Given the description of an element on the screen output the (x, y) to click on. 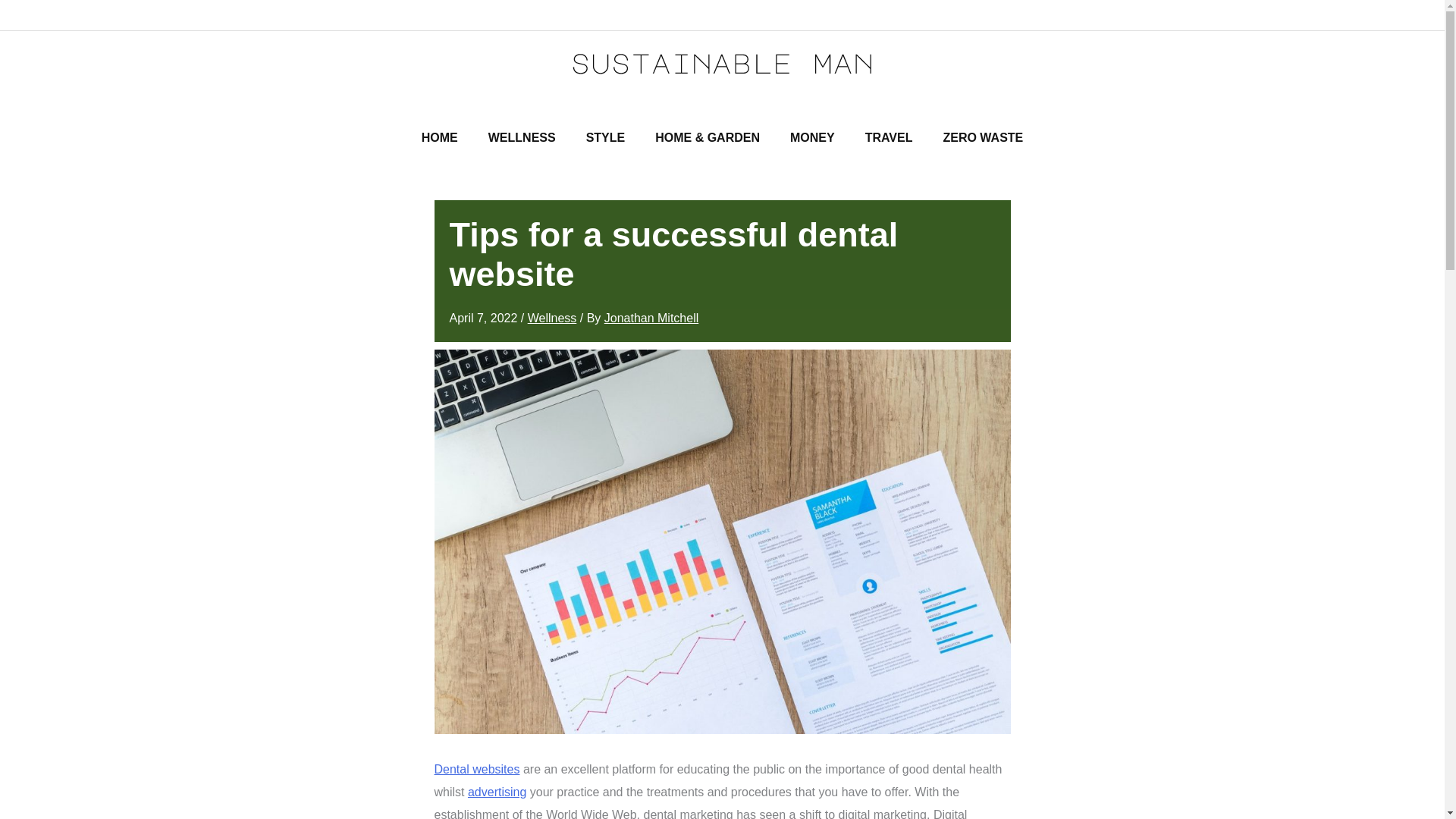
WELLNESS (521, 137)
ABOUT (41, 15)
TRAVEL (889, 137)
HOME (439, 137)
Dental websites (476, 768)
advertising (496, 791)
Jonathan Mitchell (651, 318)
ZERO WASTE (982, 137)
View all posts by Jonathan Mitchell (651, 318)
Wellness (551, 318)
